Given the description of an element on the screen output the (x, y) to click on. 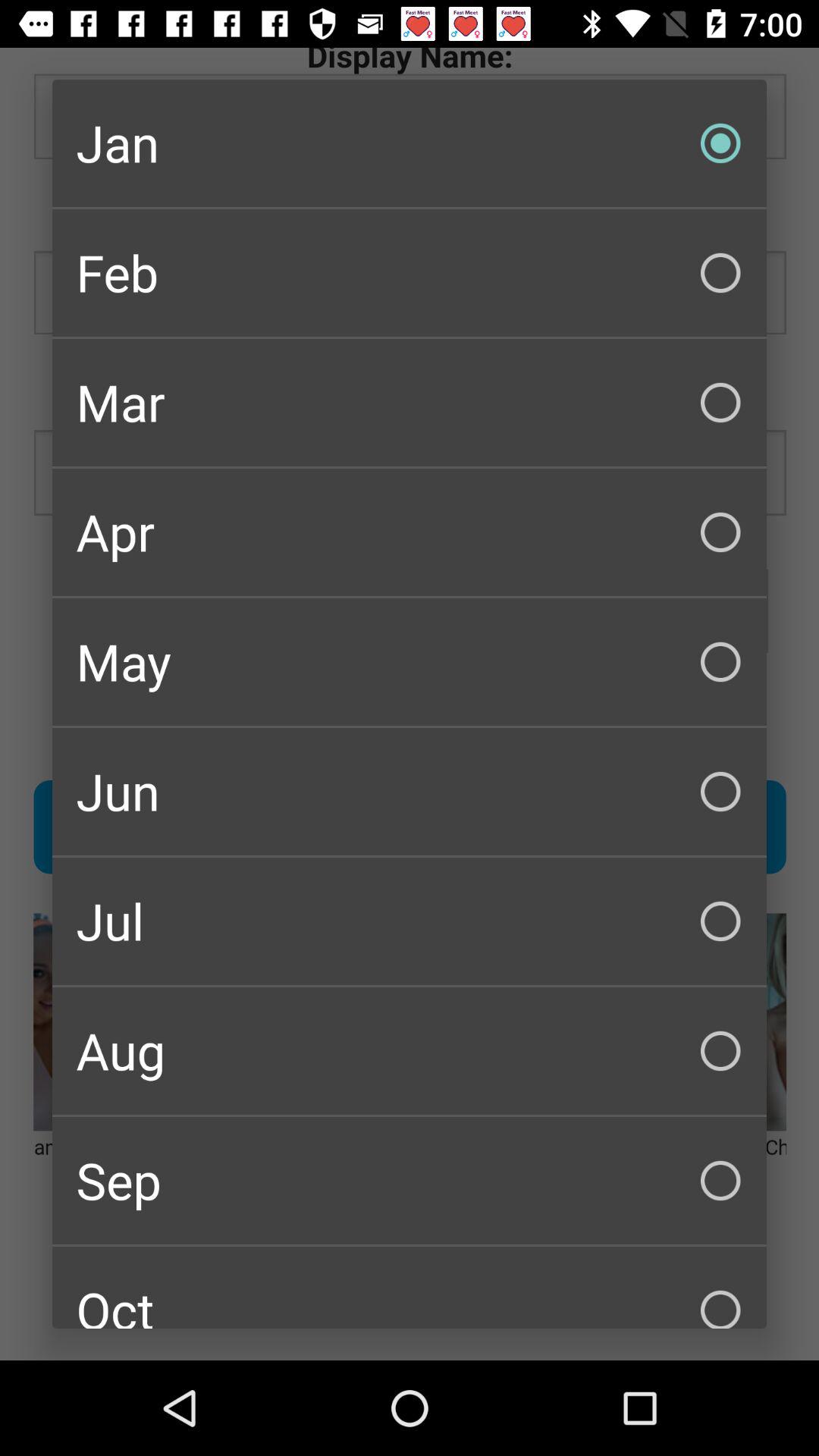
jump until feb checkbox (409, 272)
